Given the description of an element on the screen output the (x, y) to click on. 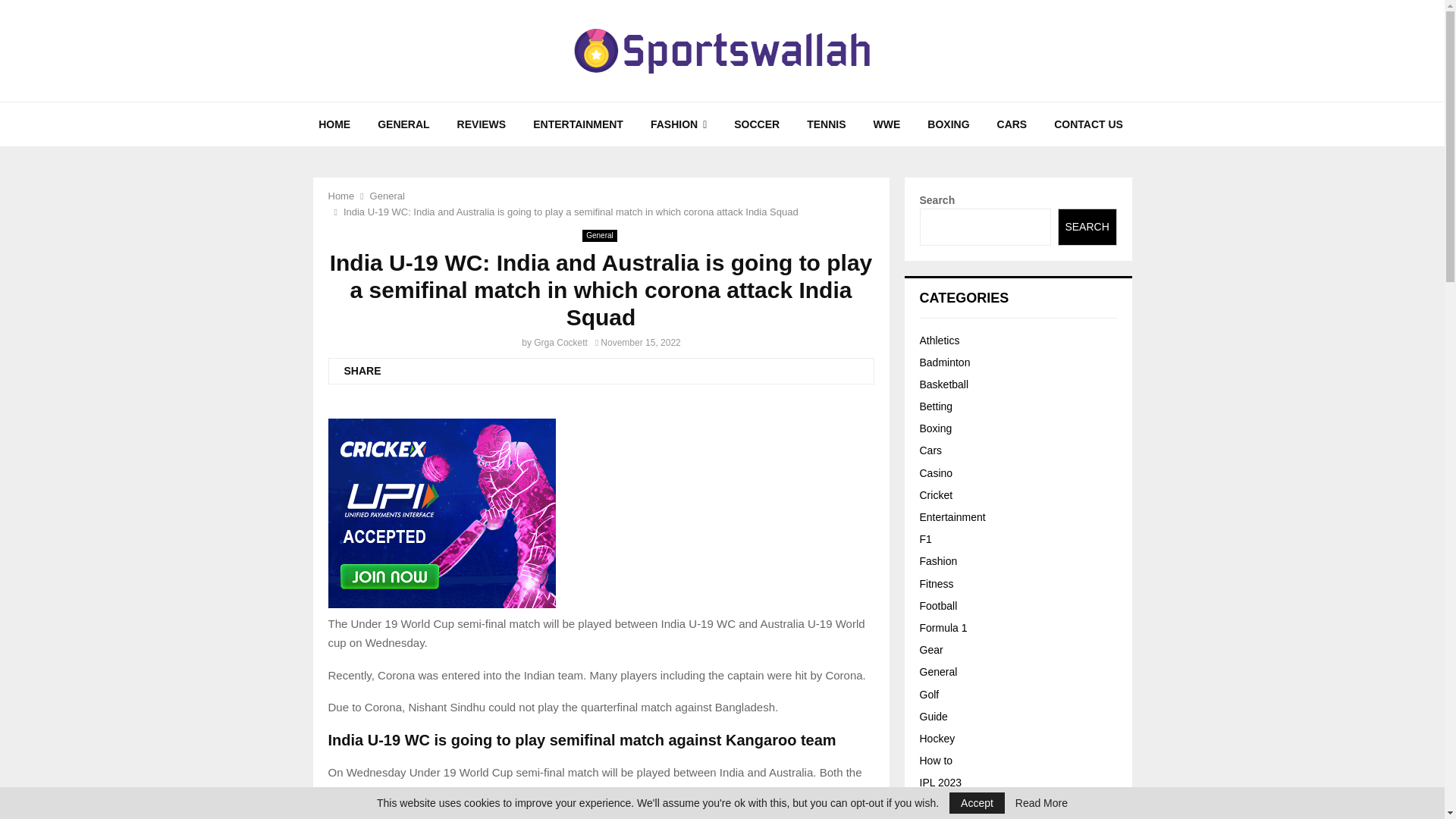
General (599, 235)
CARS (1012, 124)
CONTACT US (1089, 124)
BOXING (948, 124)
GENERAL (403, 124)
SOCCER (756, 124)
REVIEWS (481, 124)
General (386, 195)
ENTERTAINMENT (578, 124)
